Given the description of an element on the screen output the (x, y) to click on. 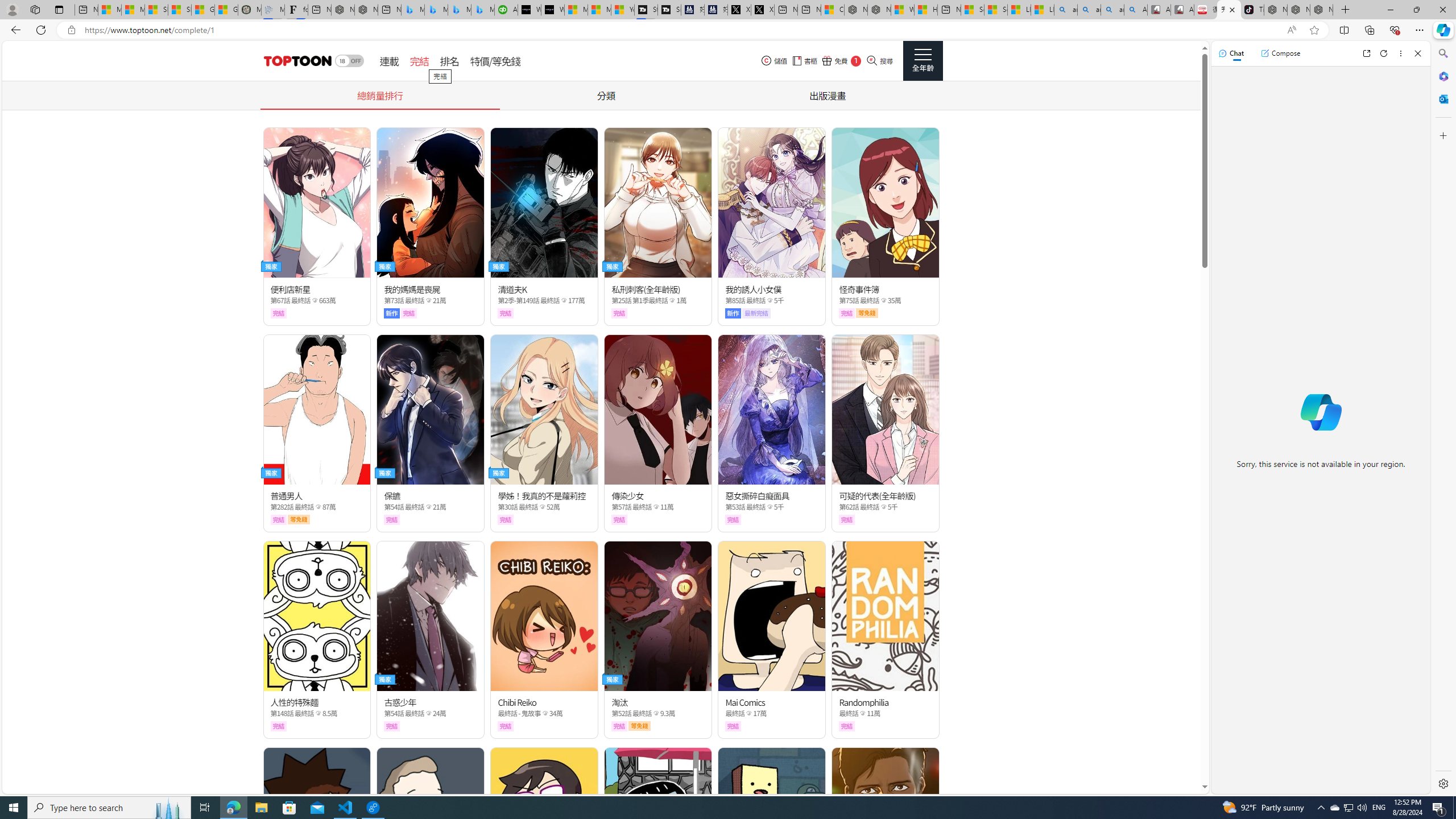
Open link in new tab (1366, 53)
What's the best AI voice generator? - voice.ai (552, 9)
Compose (1280, 52)
Class: epicon_starpoint (863, 712)
Class:  switch_18mode actionAdultBtn (349, 60)
